Given the description of an element on the screen output the (x, y) to click on. 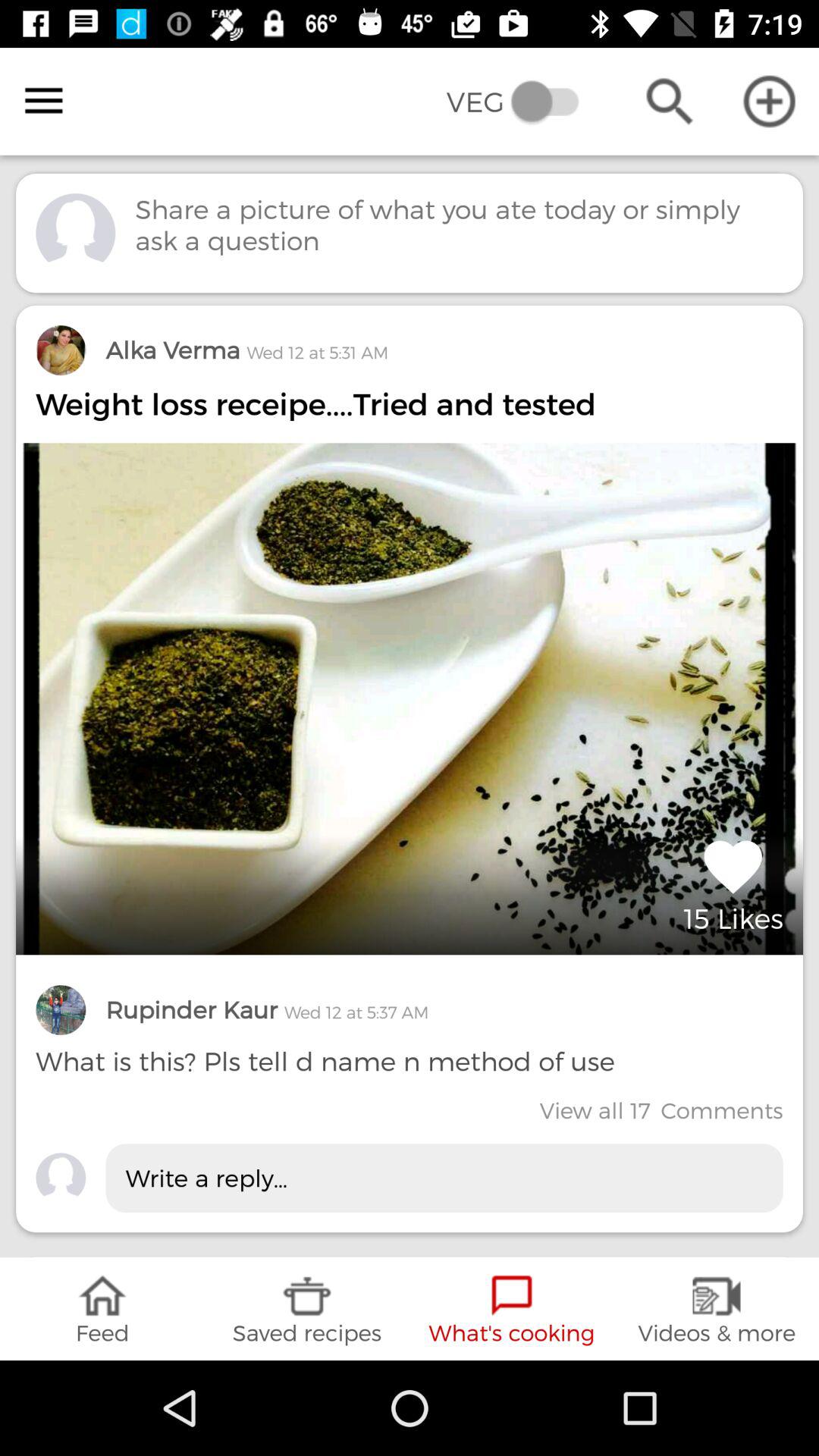
select icon to the right of feed (306, 1308)
